Given the description of an element on the screen output the (x, y) to click on. 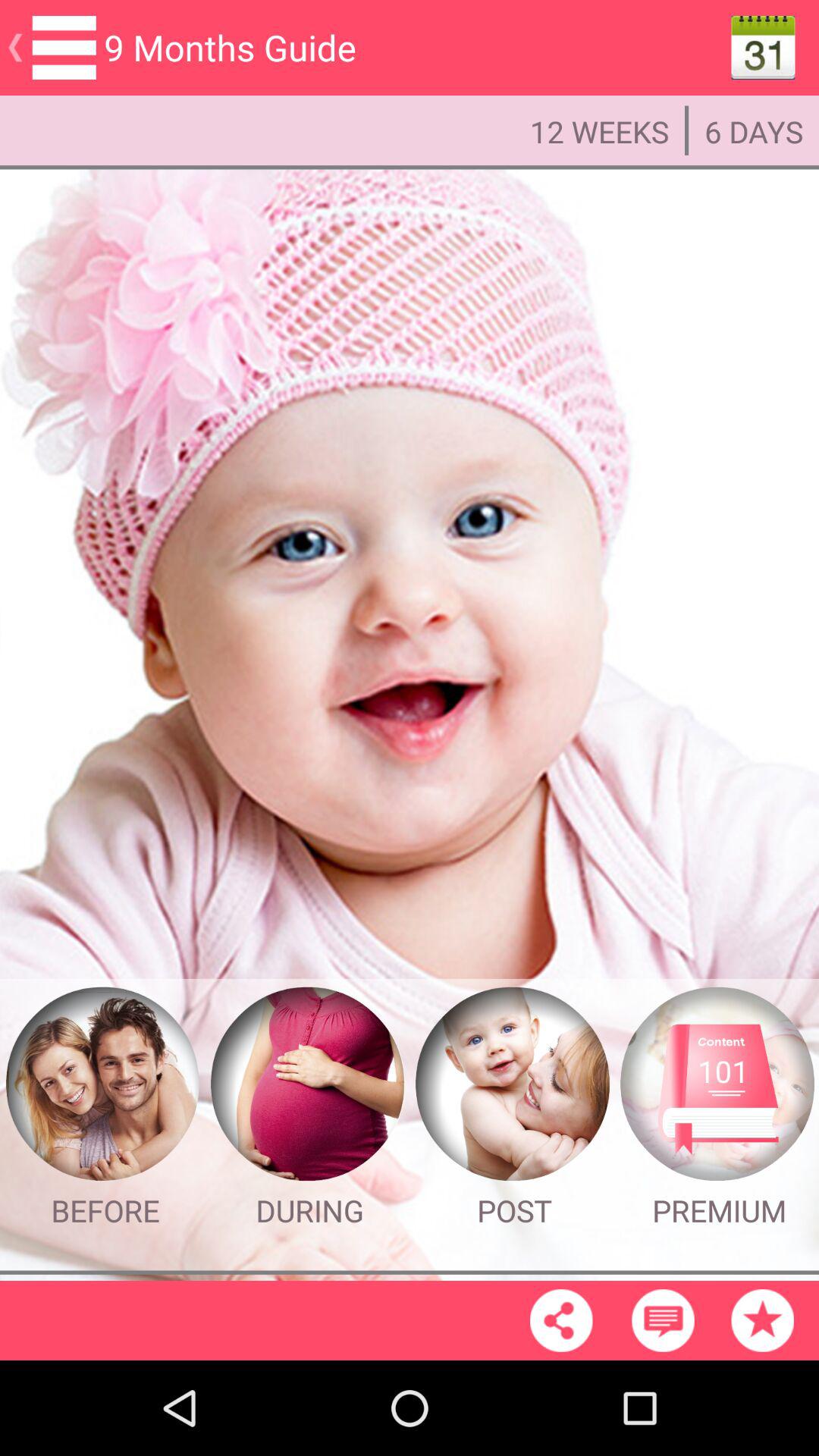
open favorites (762, 1320)
